Given the description of an element on the screen output the (x, y) to click on. 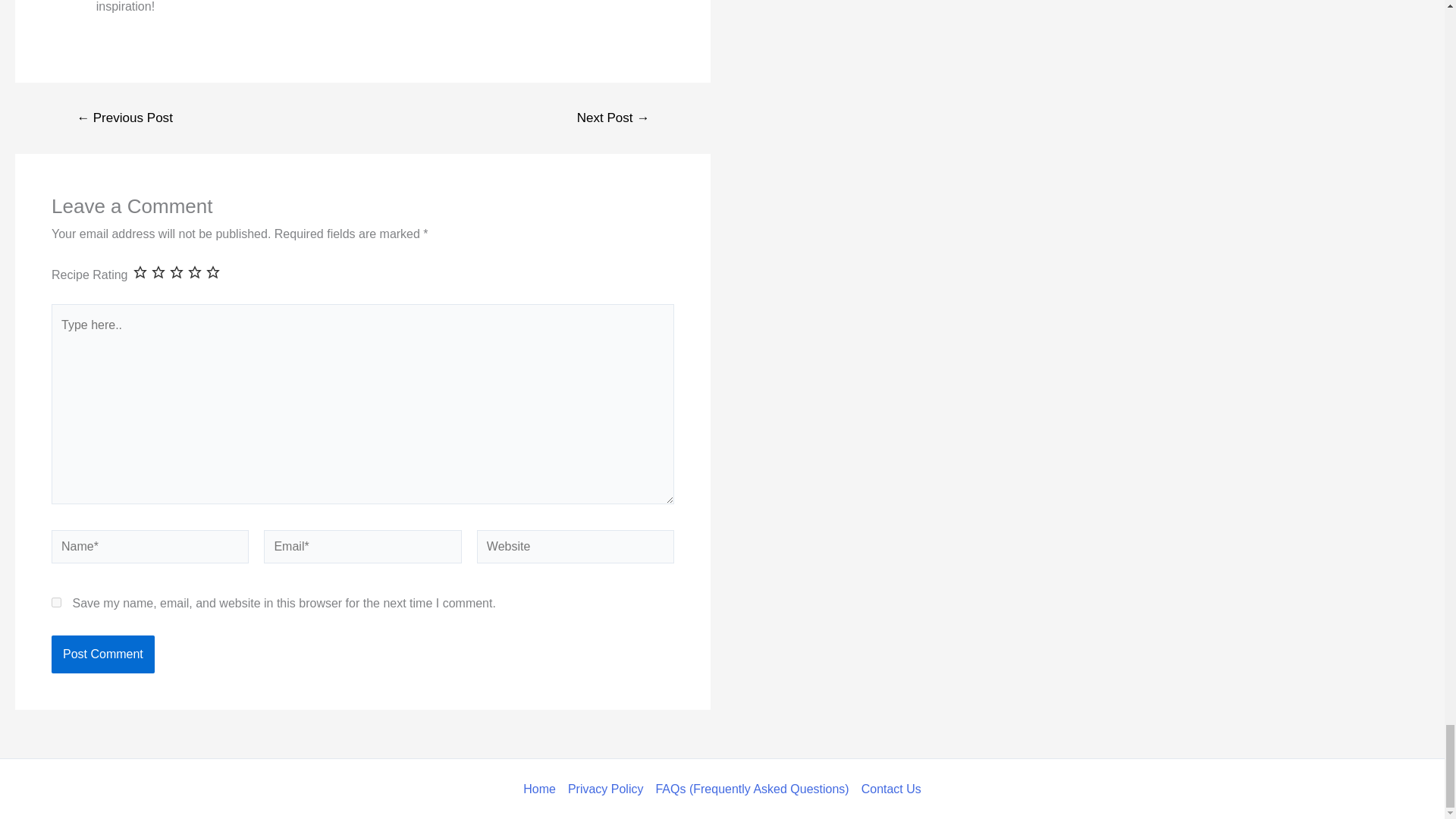
Contact Us (888, 789)
Post Comment (102, 654)
Post Comment (102, 654)
yes (55, 602)
Privacy Policy (605, 789)
Home (542, 789)
